Given the description of an element on the screen output the (x, y) to click on. 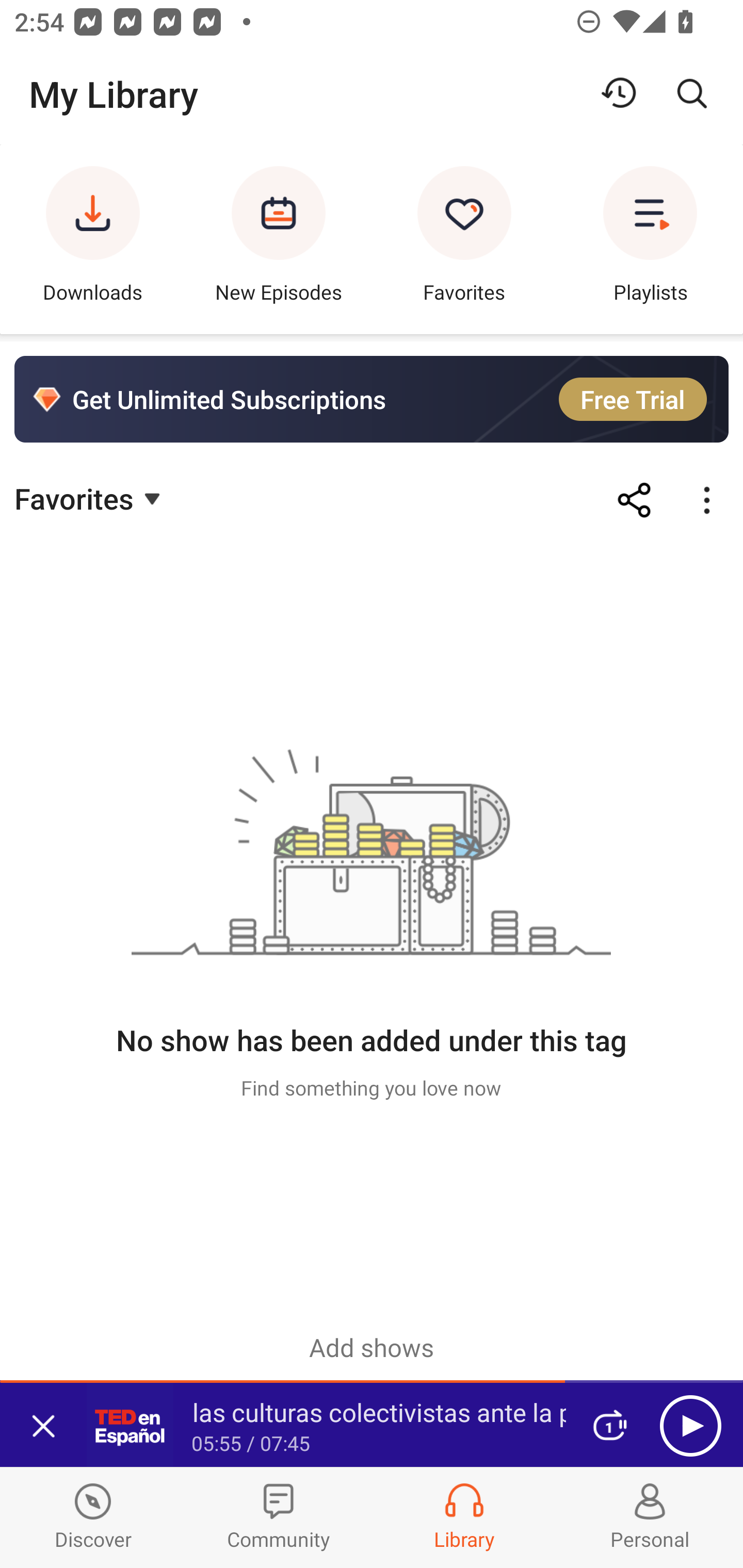
Downloads (92, 238)
New Episodes (278, 238)
Favorites (464, 238)
Playlists (650, 238)
Get Unlimited Subscriptions Free Trial (371, 398)
Free Trial (632, 398)
Favorites (90, 497)
Add shows (371, 1346)
Play (690, 1425)
Discover (92, 1517)
Community (278, 1517)
Library (464, 1517)
Profiles and Settings Personal (650, 1517)
